Given the description of an element on the screen output the (x, y) to click on. 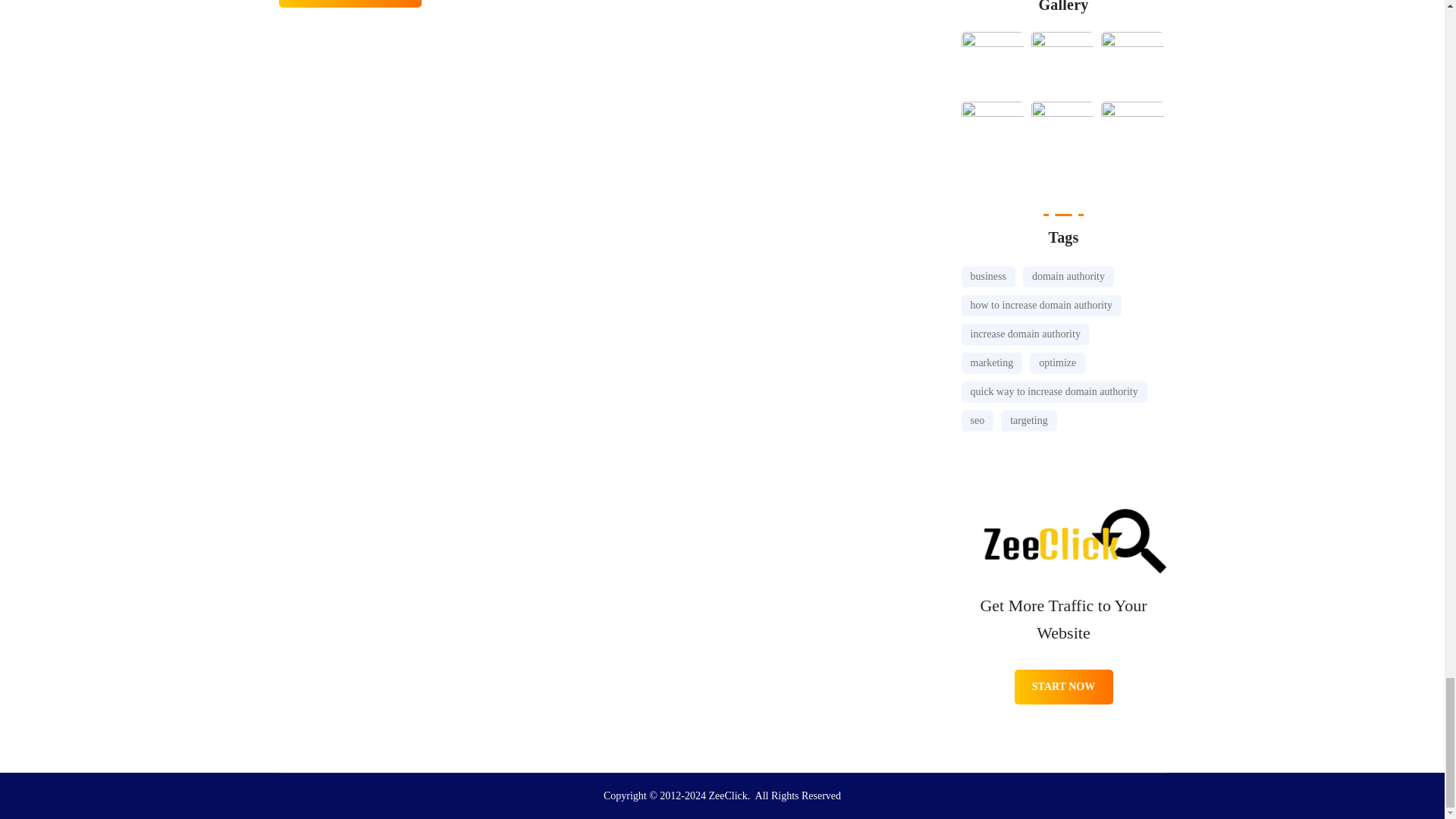
Post Comment (350, 3)
